Given the description of an element on the screen output the (x, y) to click on. 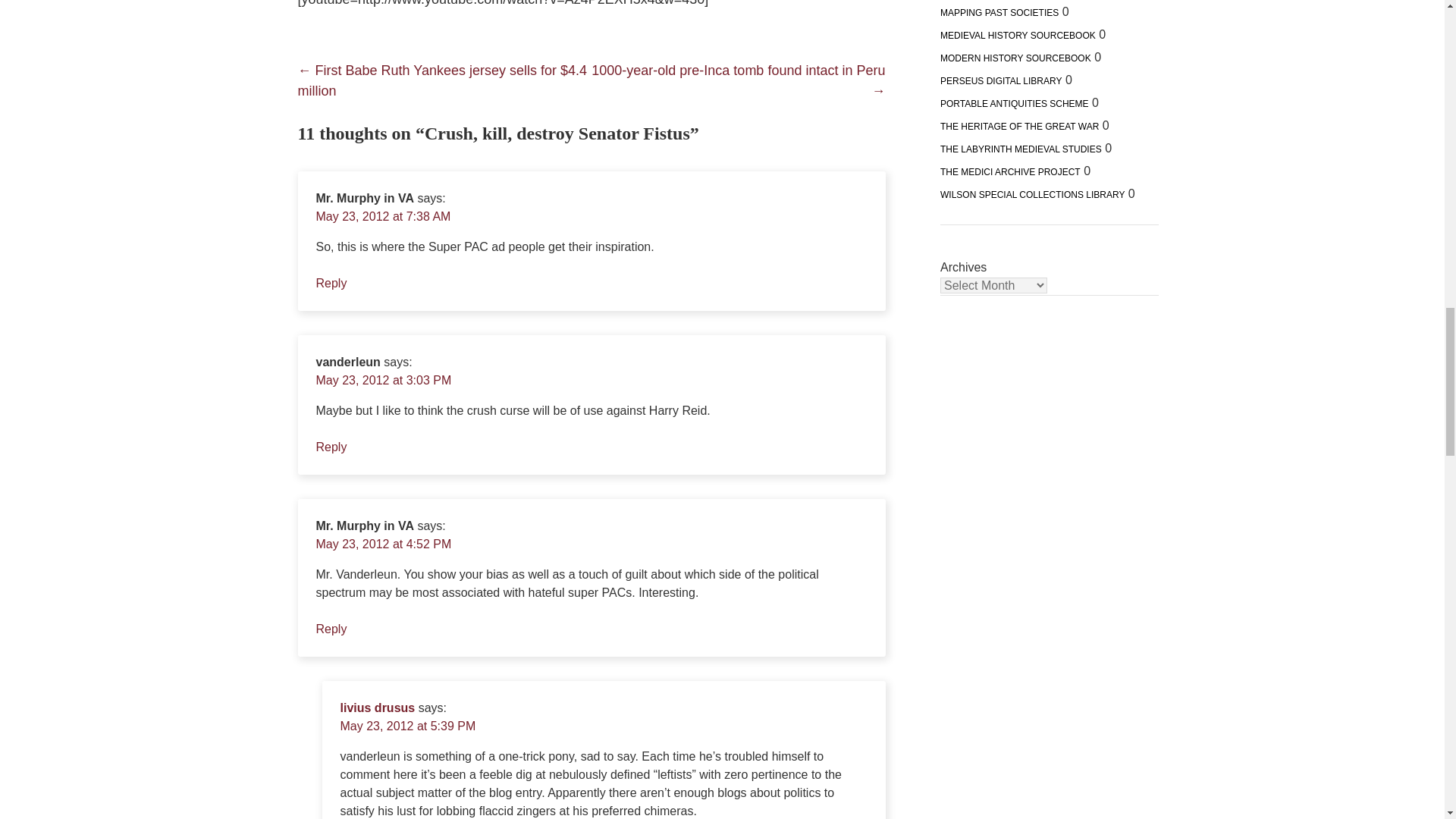
May 23, 2012 at 4:52 PM (383, 543)
Reply (330, 446)
May 23, 2012 at 5:39 PM (407, 725)
Reply (330, 628)
Reply (330, 282)
May 23, 2012 at 7:38 AM (382, 215)
May 23, 2012 at 3:03 PM (383, 379)
livius drusus (376, 707)
